Given the description of an element on the screen output the (x, y) to click on. 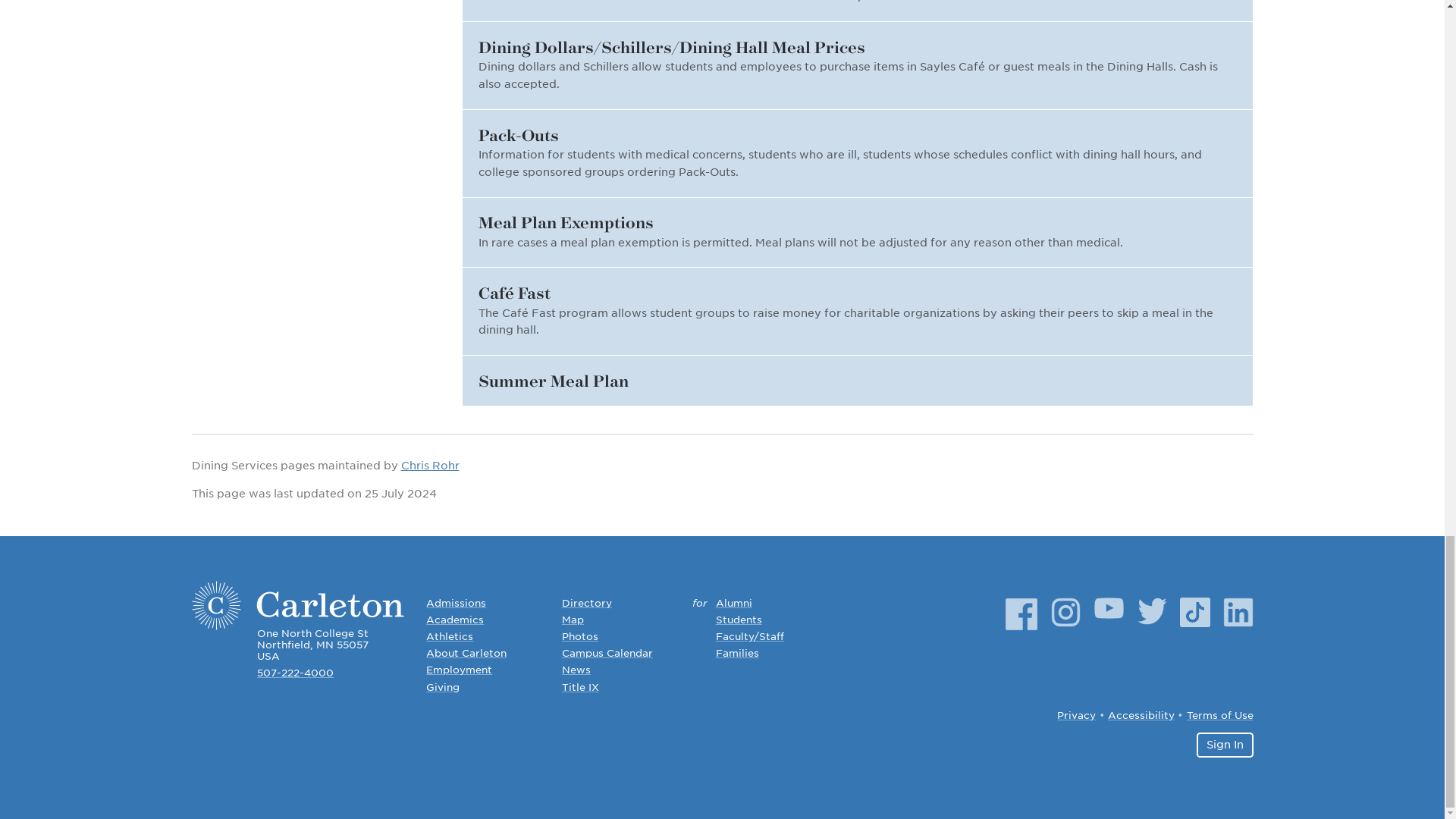
Summer Meal Plan (858, 380)
